Given the description of an element on the screen output the (x, y) to click on. 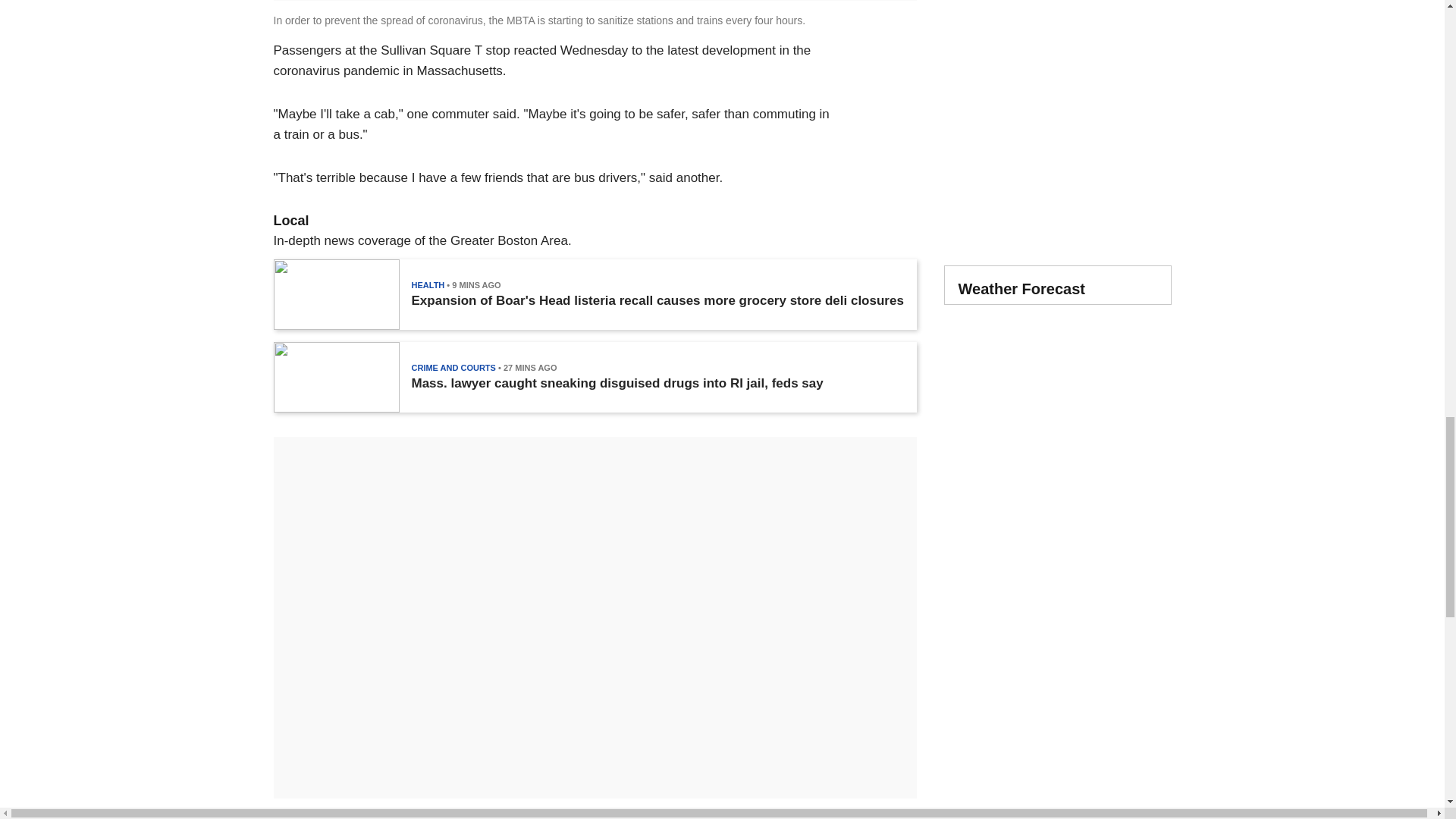
HEALTH (427, 284)
CRIME AND COURTS (452, 367)
